Given the description of an element on the screen output the (x, y) to click on. 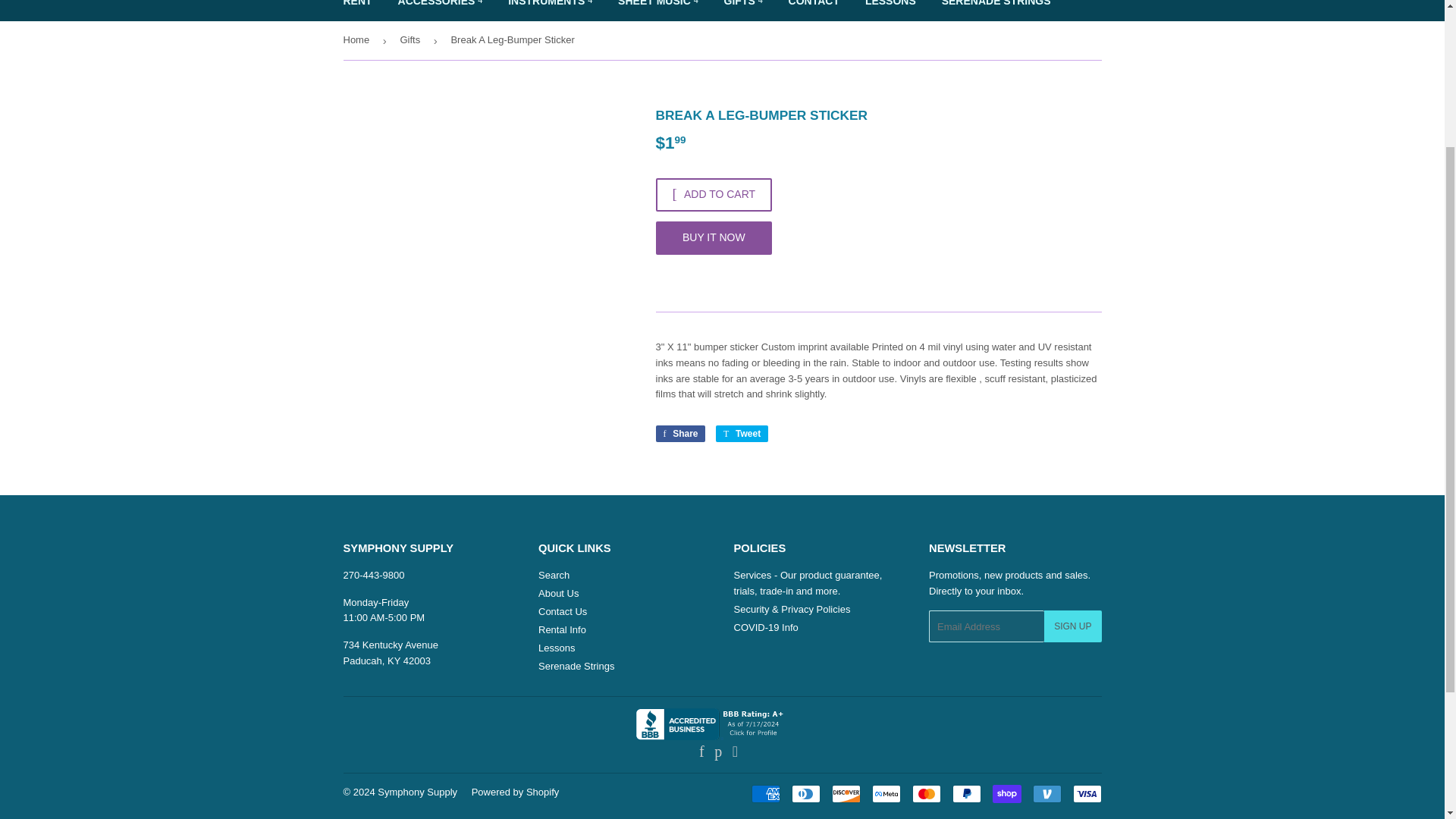
Venmo (1046, 793)
Meta Pay (886, 793)
Tweet on Twitter (742, 433)
Share on Facebook (679, 433)
Visa (1085, 793)
Shop Pay (1005, 793)
Diners Club (806, 793)
Discover (845, 793)
Mastercard (925, 793)
PayPal (966, 793)
American Express (764, 793)
